Given the description of an element on the screen output the (x, y) to click on. 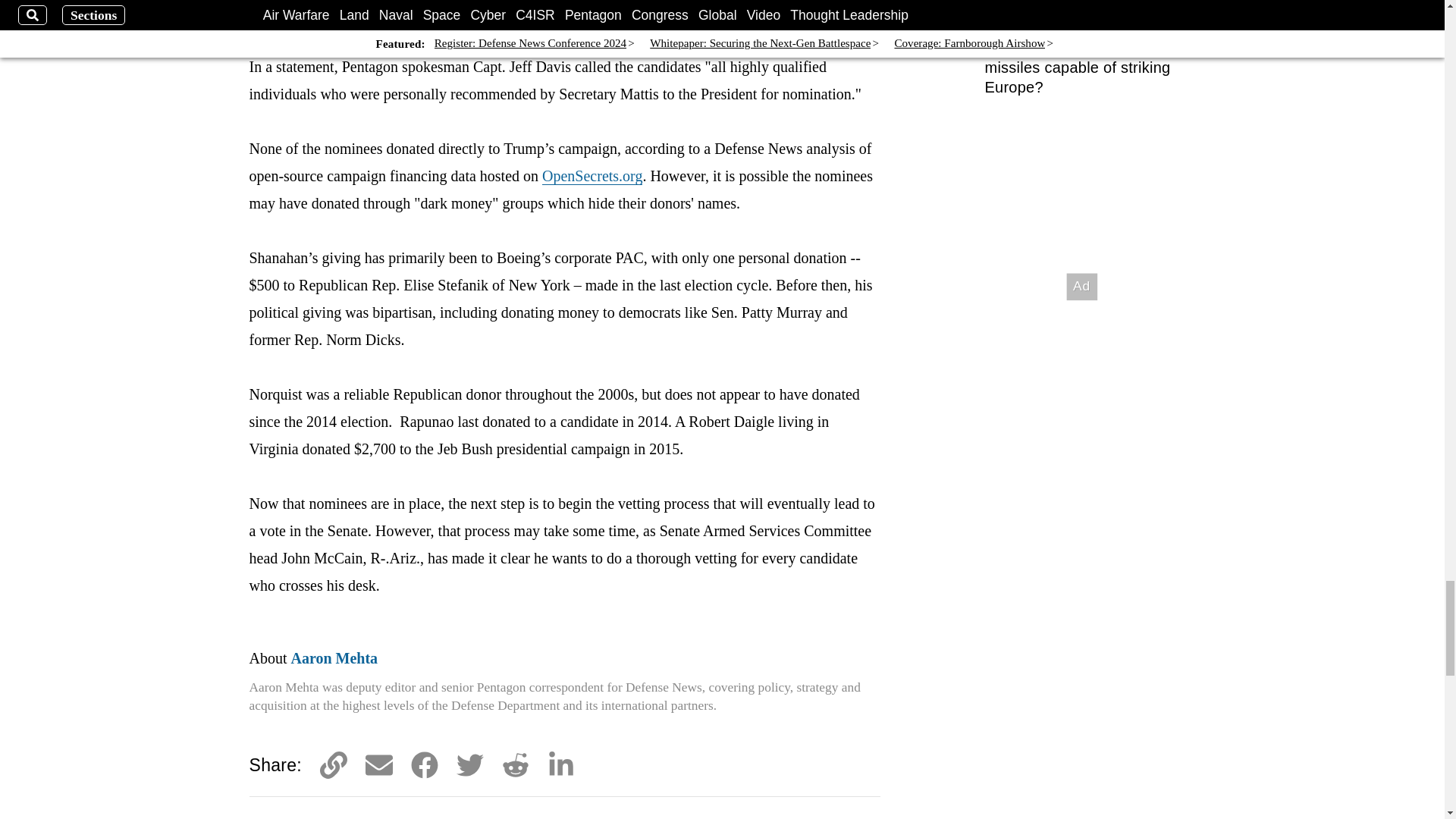
Link: www.opensecrets.org (591, 176)
